Given the description of an element on the screen output the (x, y) to click on. 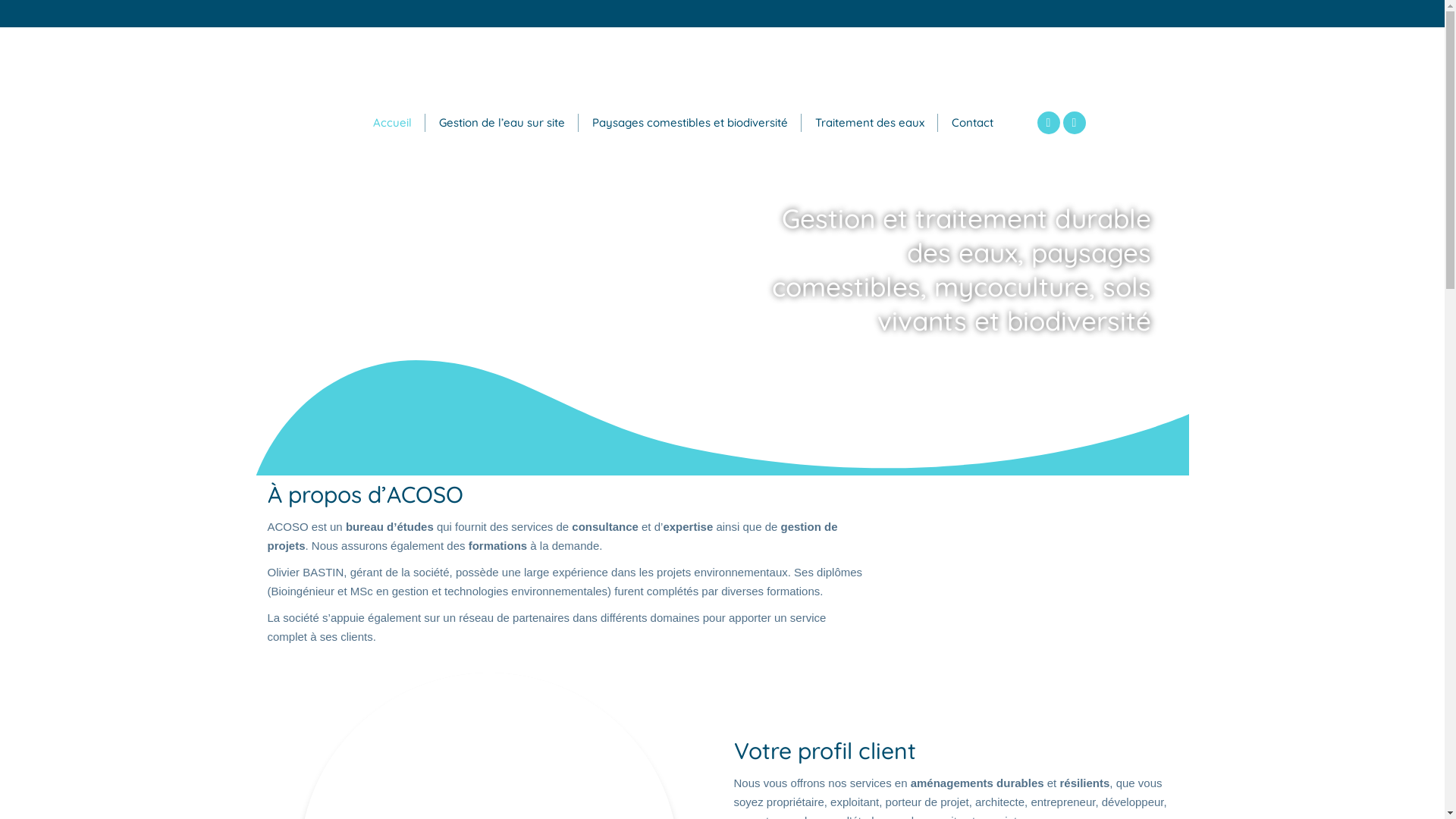
Mail page opens in new window Element type: text (1074, 121)
LinkedIn page opens in new window Element type: text (1048, 121)
Contact Element type: text (971, 122)
Traitement des eaux Element type: text (868, 122)
Accueil Element type: text (392, 122)
